Given the description of an element on the screen output the (x, y) to click on. 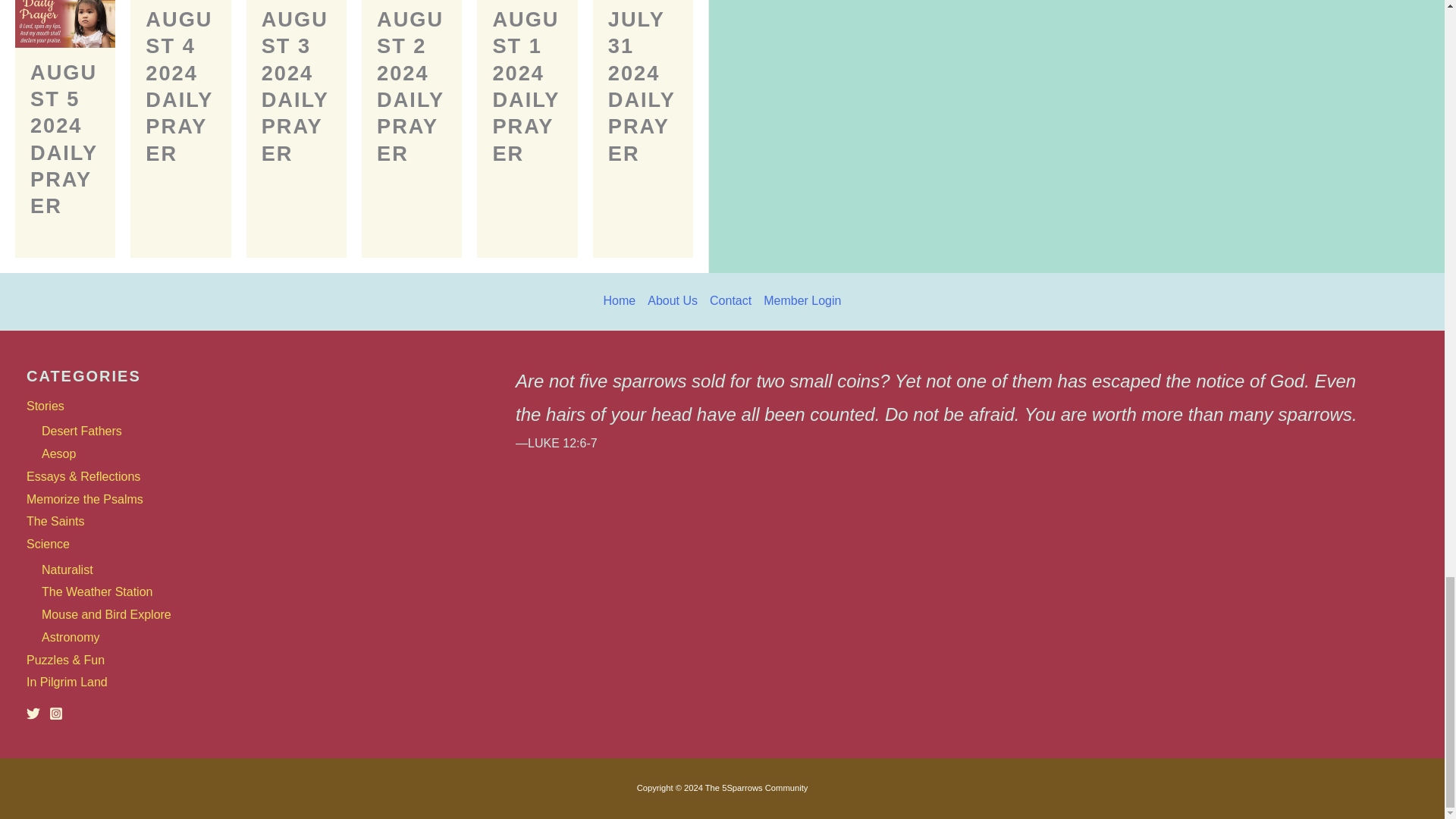
AUGUST 4 2024 DAILY PRAYER (178, 86)
AUGUST 5 2024 DAILY PRAYER (63, 139)
